Given the description of an element on the screen output the (x, y) to click on. 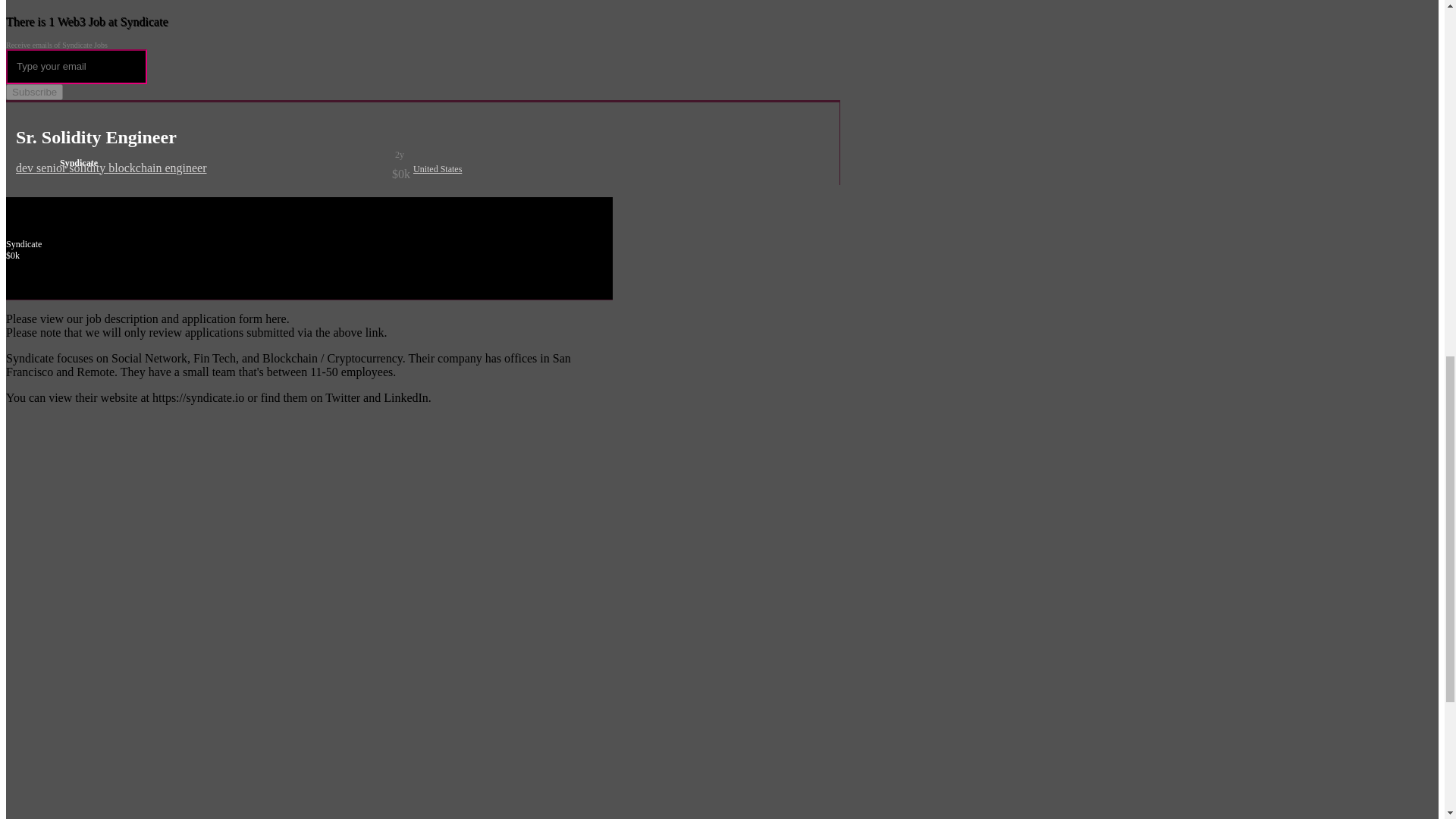
Subscribe (33, 91)
